Given the description of an element on the screen output the (x, y) to click on. 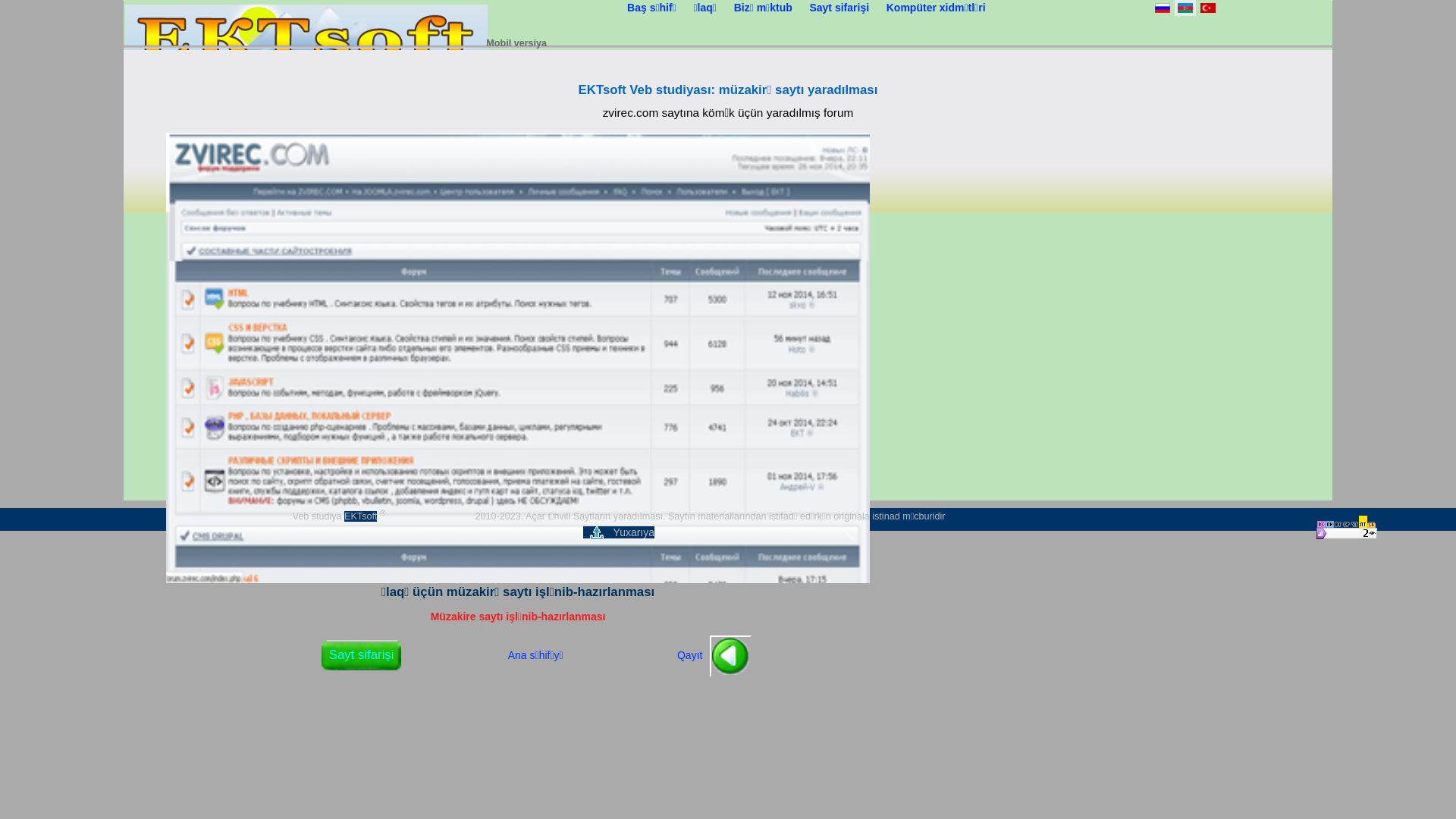
Mobil versiya Element type: text (516, 42)
EKTsoft Element type: text (360, 516)
